Given the description of an element on the screen output the (x, y) to click on. 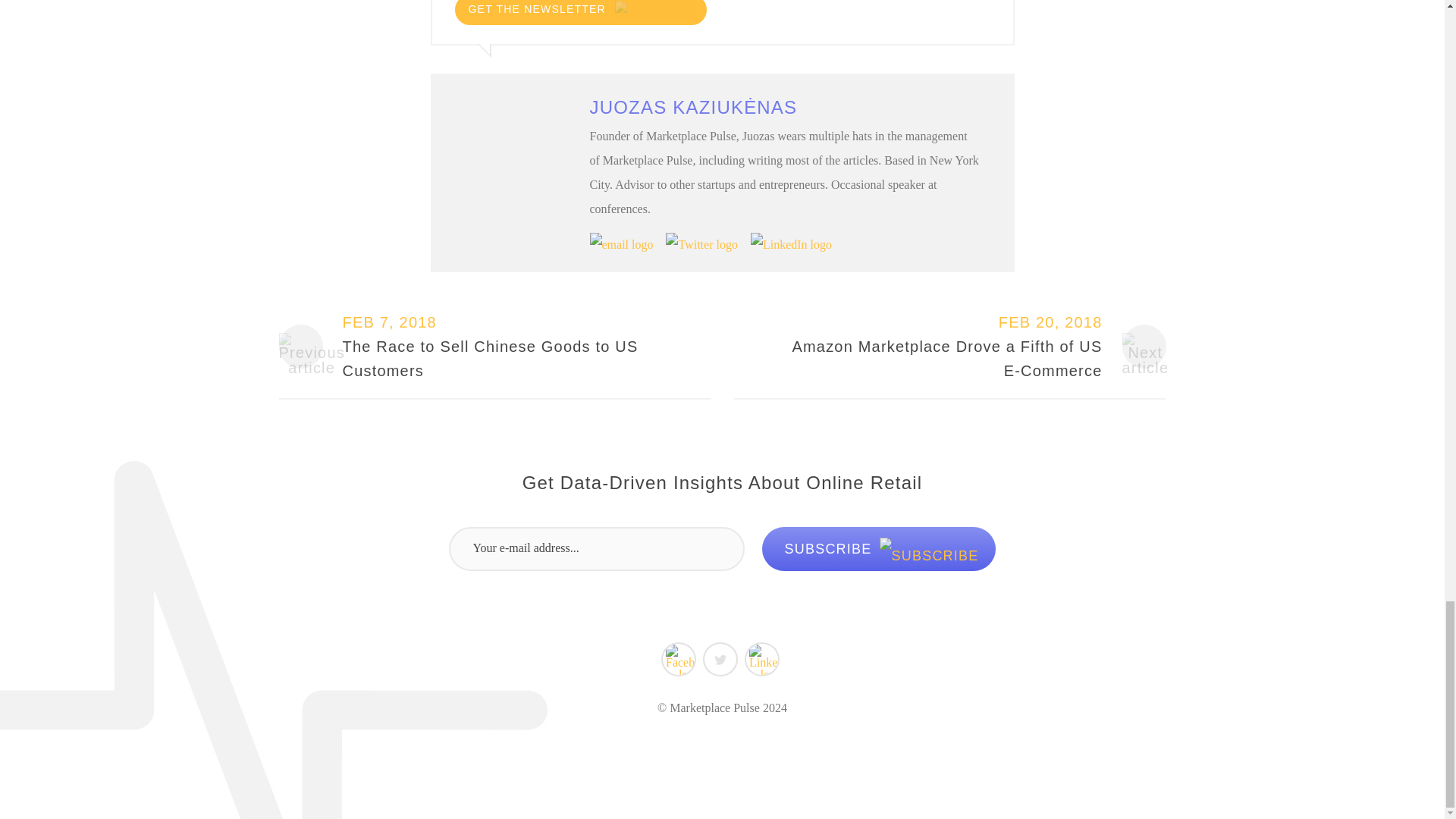
GET THE NEWSLETTER (580, 12)
SUBSCRIBE (878, 548)
